Given the description of an element on the screen output the (x, y) to click on. 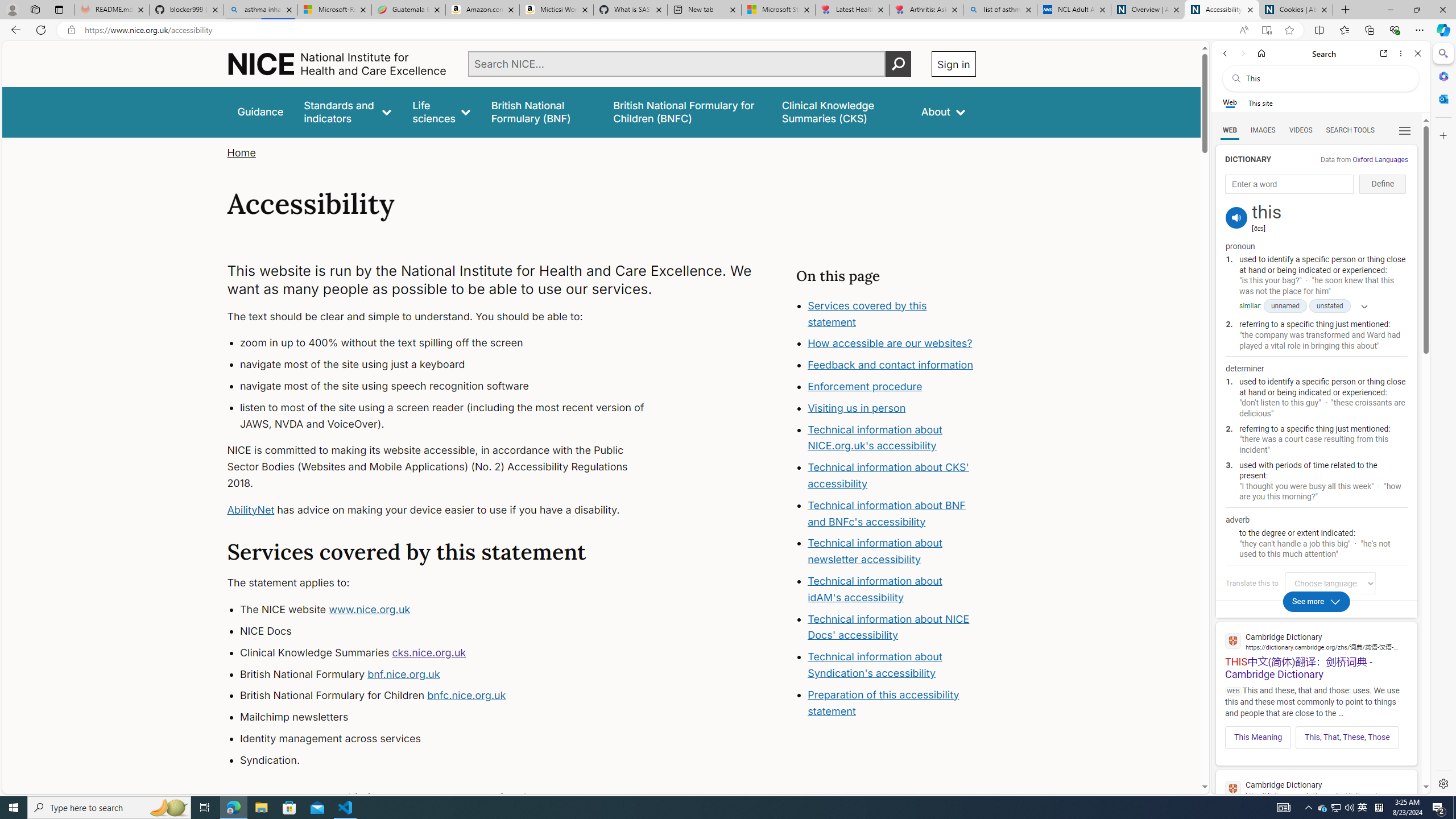
Feedback and contact information (891, 365)
Technical information about newsletter accessibility (875, 551)
Accessibility | NICE (1221, 9)
WEB   (1230, 130)
Mailchimp newsletters (452, 717)
Enter a word (1289, 184)
NICE Docs (452, 630)
Life sciences (440, 111)
Technical information about idAM's accessibility (875, 588)
Guidance (260, 111)
